Given the description of an element on the screen output the (x, y) to click on. 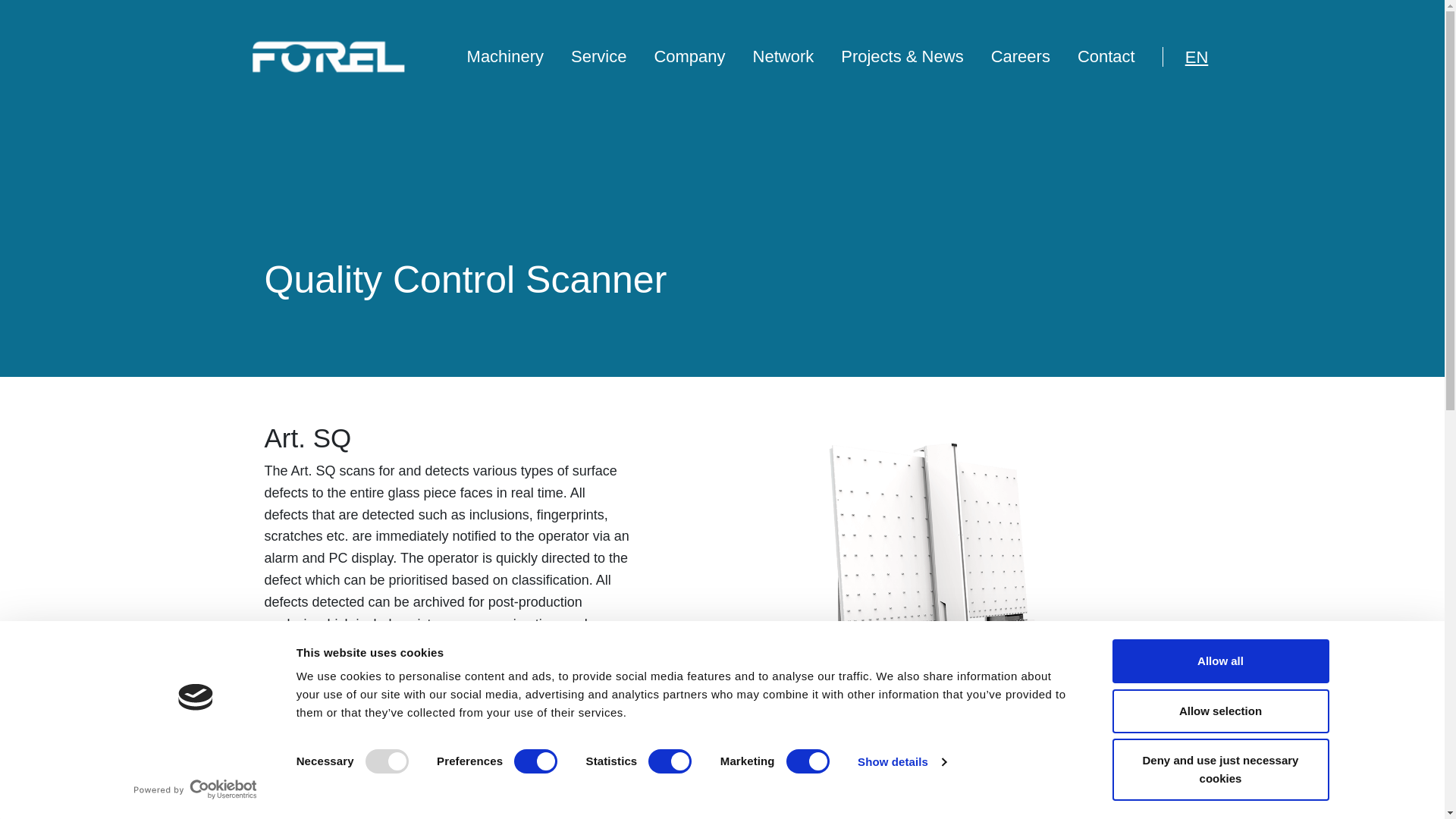
Show details (900, 762)
Deny and use just necessary cookies (1219, 769)
Allow all (1219, 661)
Allow selection (1219, 710)
